Given the description of an element on the screen output the (x, y) to click on. 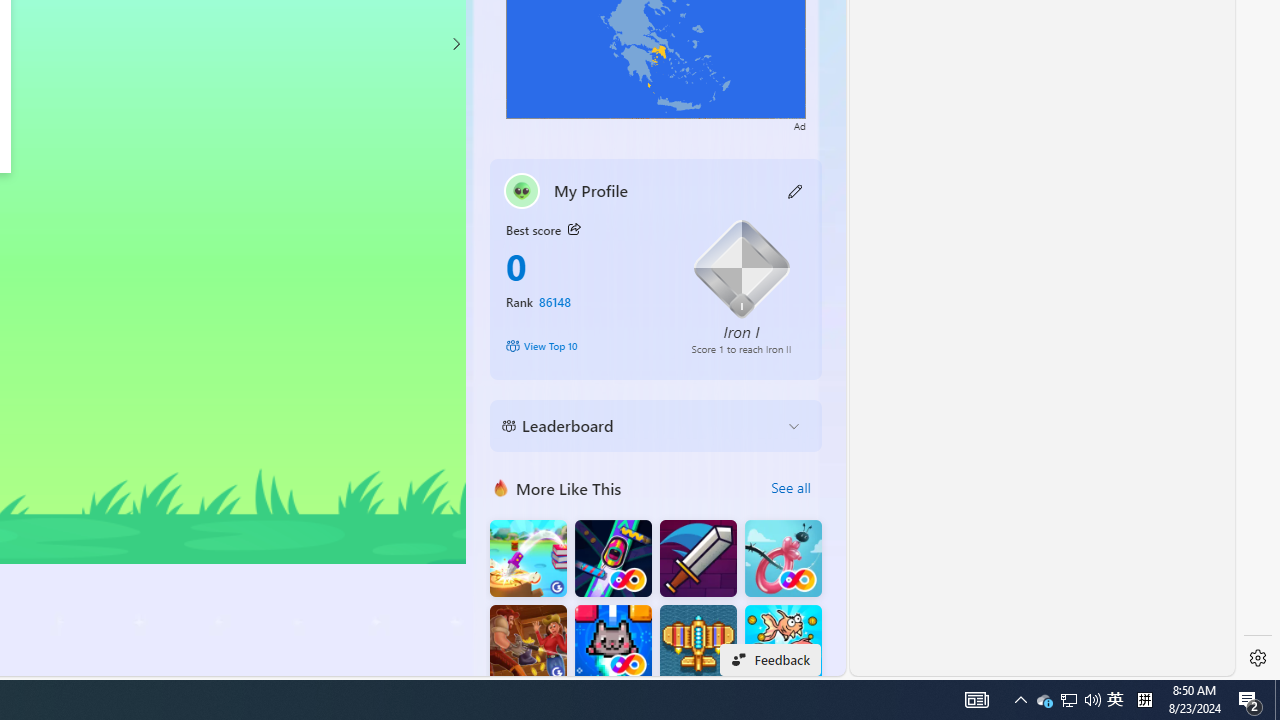
Class: button edit-icon (795, 190)
Knife Flip (528, 558)
Fish Merge FRVR (783, 643)
Saloon Robbery (528, 643)
More Like This (501, 487)
See all (790, 487)
Kitten Force FRVR (612, 643)
Dungeon Master Knight (698, 558)
Class: control (455, 43)
See all (790, 487)
""'s avatar (522, 190)
View Top 10 (584, 345)
Class: button (574, 229)
Bumper Car FRVR (612, 558)
